Given the description of an element on the screen output the (x, y) to click on. 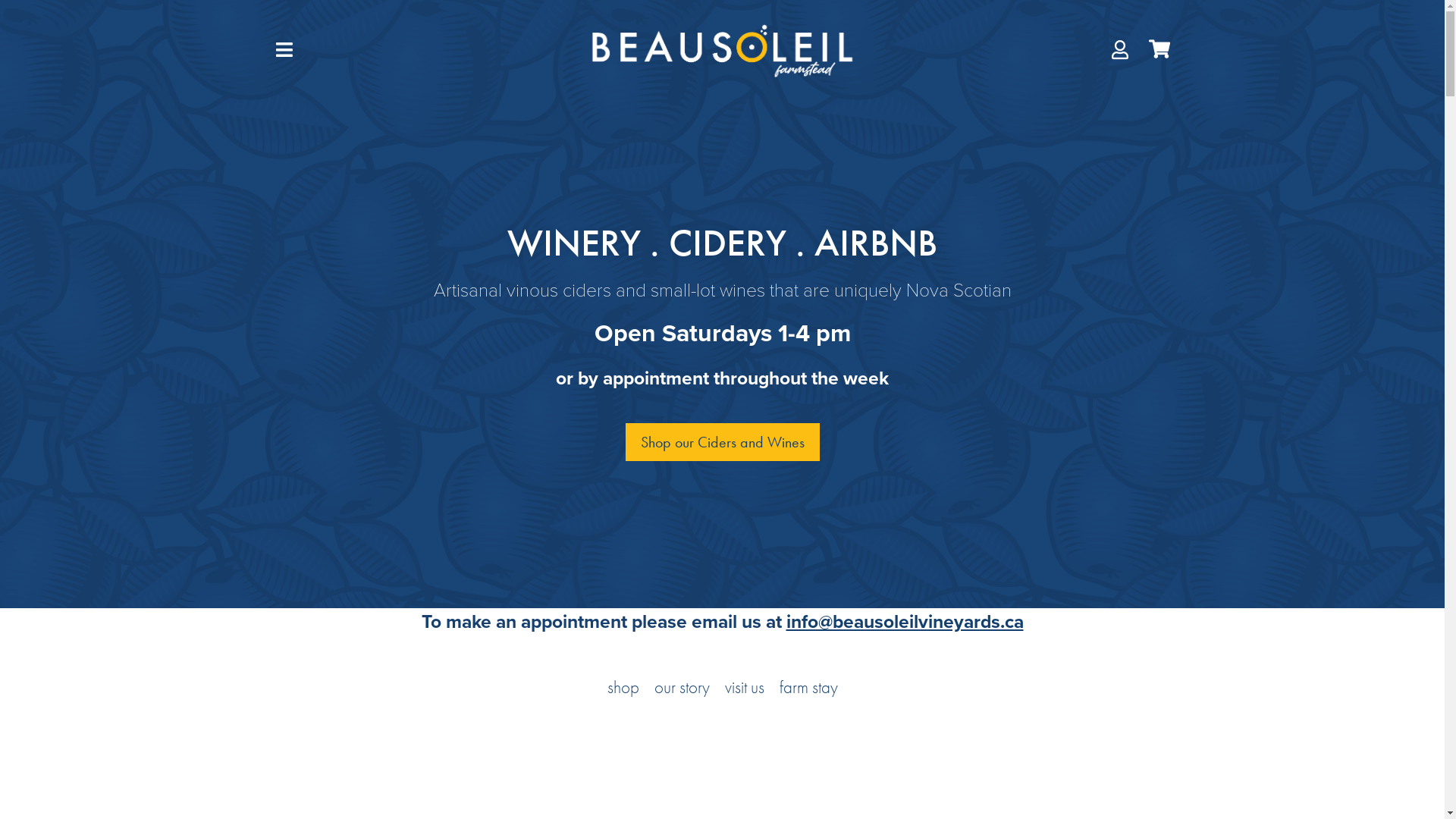
our story Element type: text (681, 687)
View your shopping cart Element type: hover (1157, 48)
shop Element type: text (622, 687)
Shop our Ciders and Wines Element type: text (721, 442)
visit us Element type: text (744, 687)
info@beausoleilvineyards.ca Element type: text (903, 621)
farm stay Element type: text (808, 687)
